Given the description of an element on the screen output the (x, y) to click on. 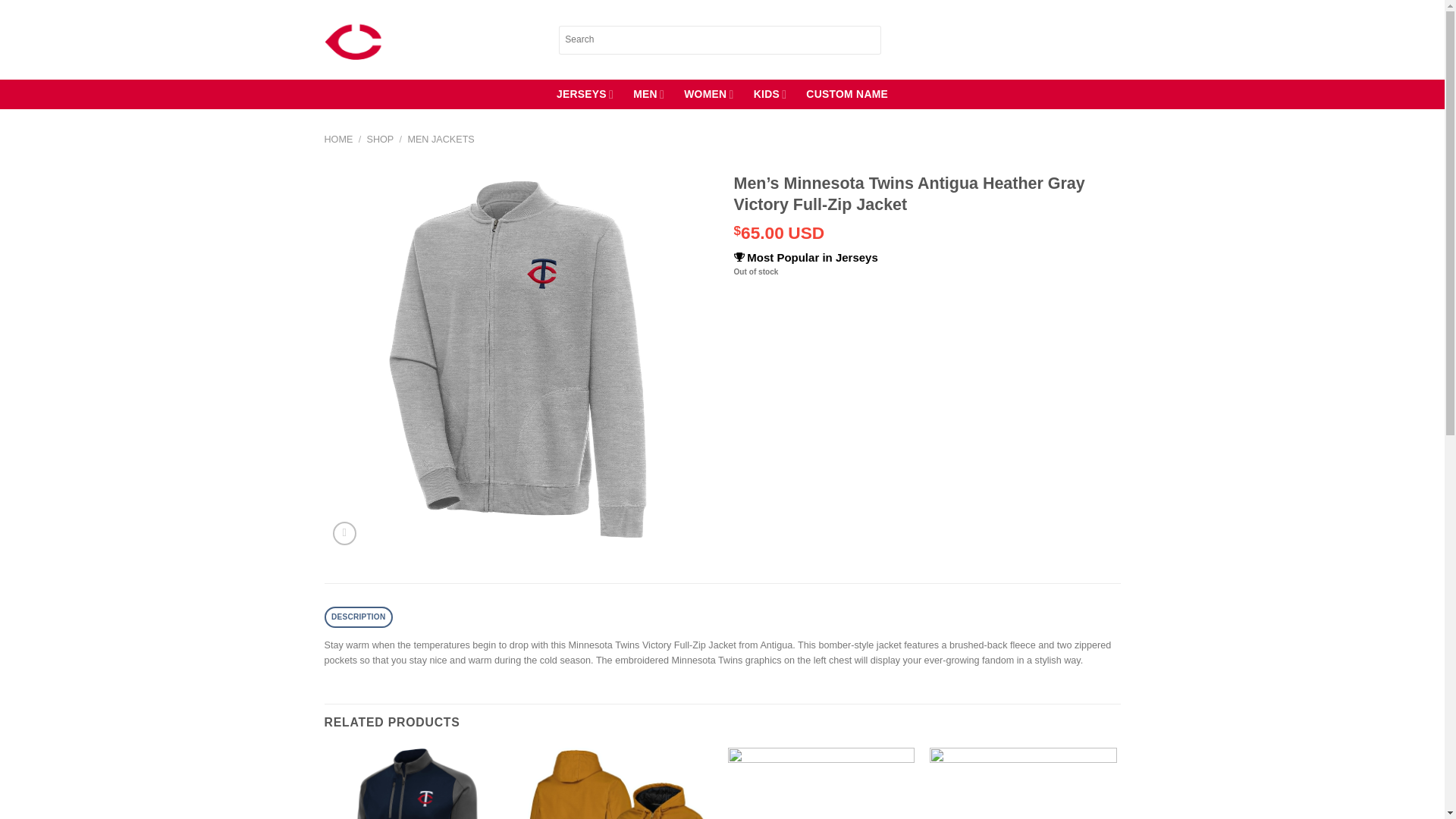
HOME (338, 139)
DESCRIPTION (358, 617)
JERSEYS (584, 93)
Official Minnesota Twins Online Shop (429, 39)
WOMEN (708, 93)
CUSTOM NAME (847, 93)
KIDS (770, 93)
Search (870, 39)
